Given the description of an element on the screen output the (x, y) to click on. 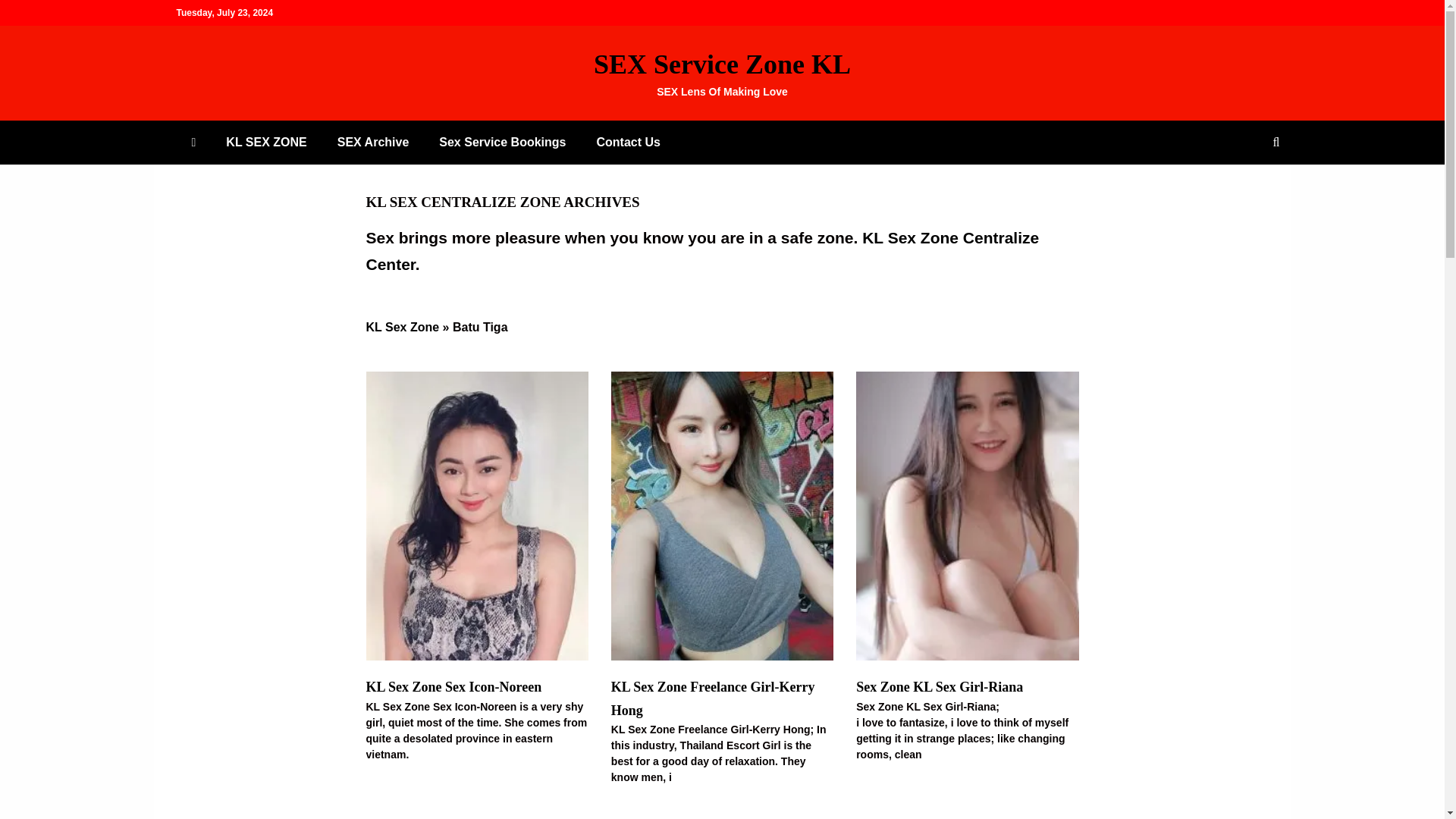
KL Sex Zone Freelance Girl-Kerry Hong (713, 698)
Sex Zone KL Sex Girl-Riana (939, 686)
KL Sex Zone (402, 327)
SEX Archive (373, 141)
How To Book Your Favourite Escort Girl (501, 141)
SEX Service Zone KL (722, 64)
KL Sex Zone Sex Icon-Noreen (453, 686)
sex escort girl blog page (373, 141)
Search (31, 13)
Sex Service Bookings (501, 141)
Contact Us (627, 141)
KL SEX ZONE (266, 141)
Sex service escort zone Kuala Lumpur (266, 141)
KL Sex Zone Centralize Center (702, 251)
